Given the description of an element on the screen output the (x, y) to click on. 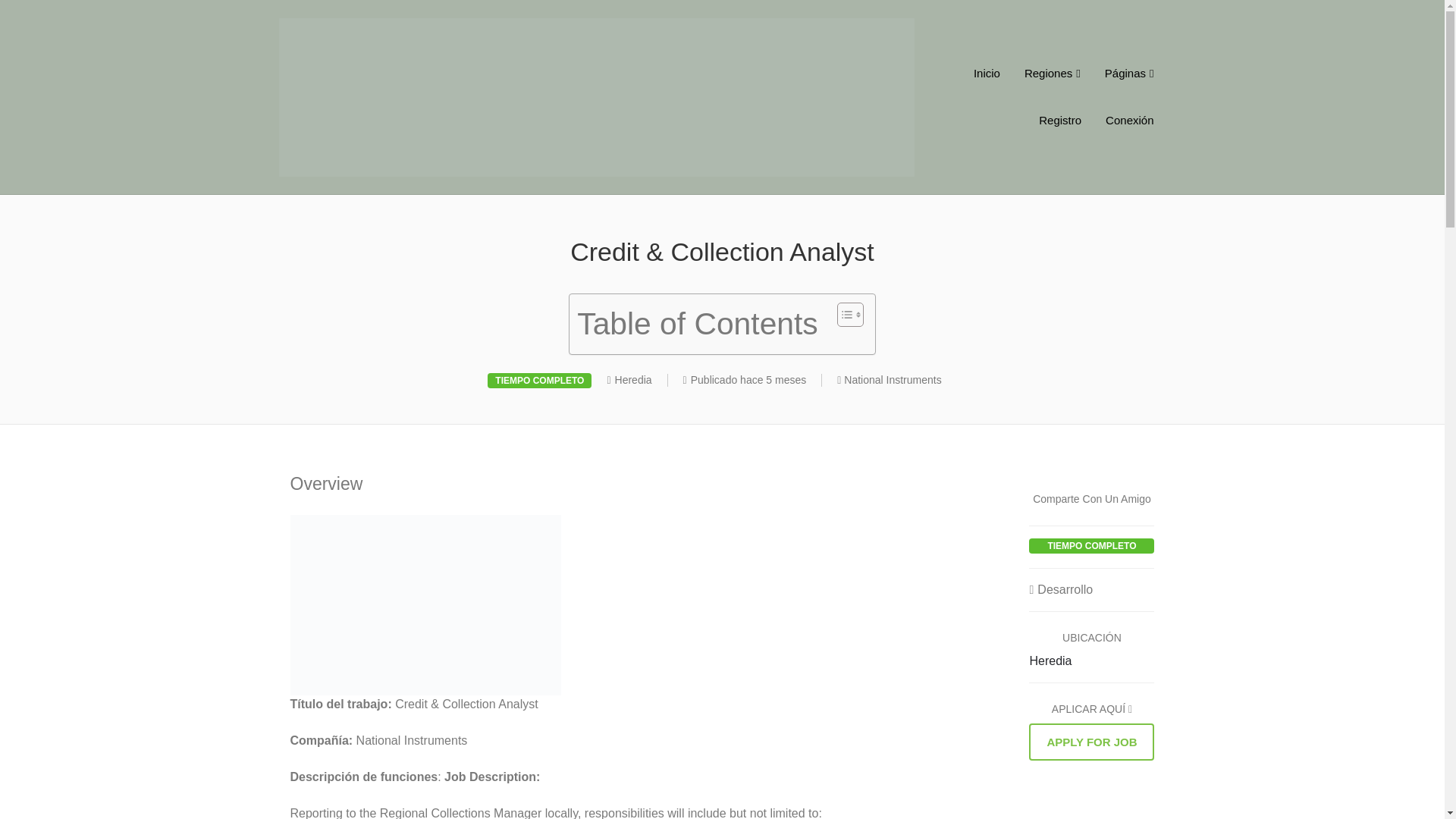
Heredia (633, 379)
Heredia (1050, 660)
APPLY FOR JOB (1091, 741)
National Instruments (892, 379)
Registro (1059, 120)
Desarrollo (1061, 589)
Regiones (1052, 73)
Inicio (985, 73)
